Given the description of an element on the screen output the (x, y) to click on. 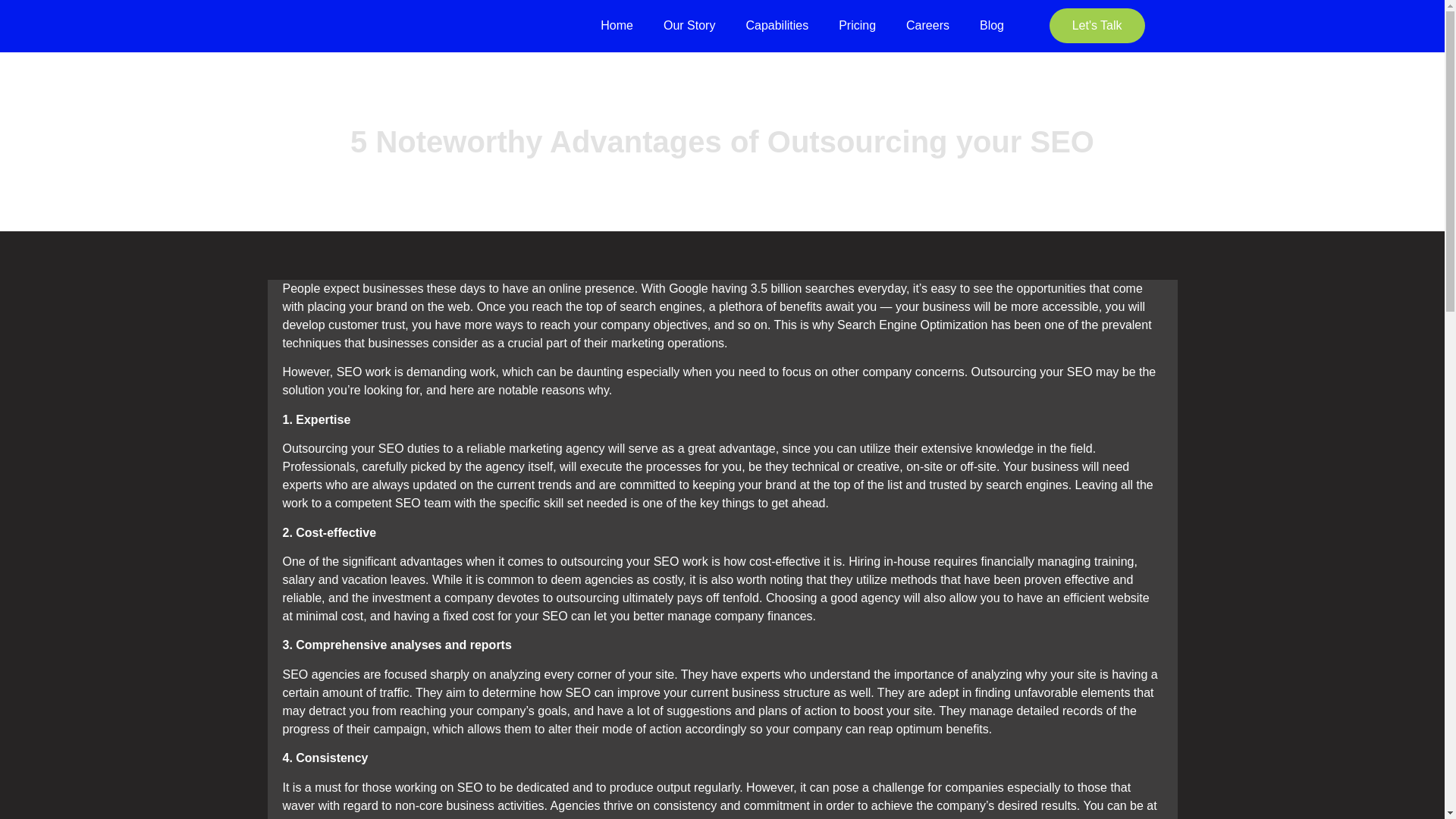
Careers (927, 25)
Capabilities (777, 25)
Pricing (857, 25)
Home (616, 25)
Blog (991, 25)
Our Story (688, 25)
